Given the description of an element on the screen output the (x, y) to click on. 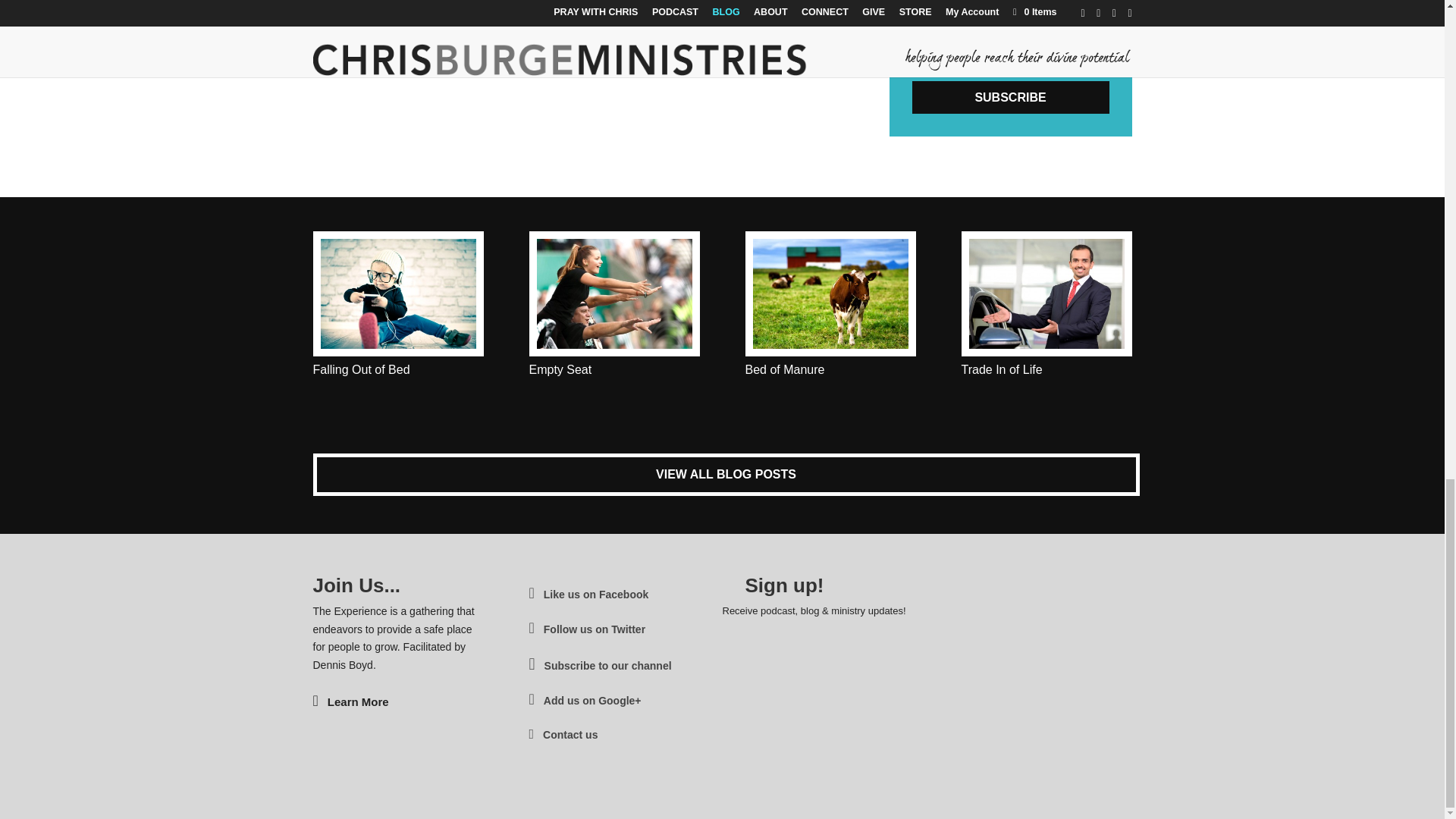
Share this on Facebook (665, 45)
Email this page (824, 45)
Print this page (797, 45)
Pin this page (771, 45)
First Name (1010, 18)
Share this on Linkedin (745, 45)
Email Address (1010, 57)
Tweet about this (691, 45)
